Given the description of an element on the screen output the (x, y) to click on. 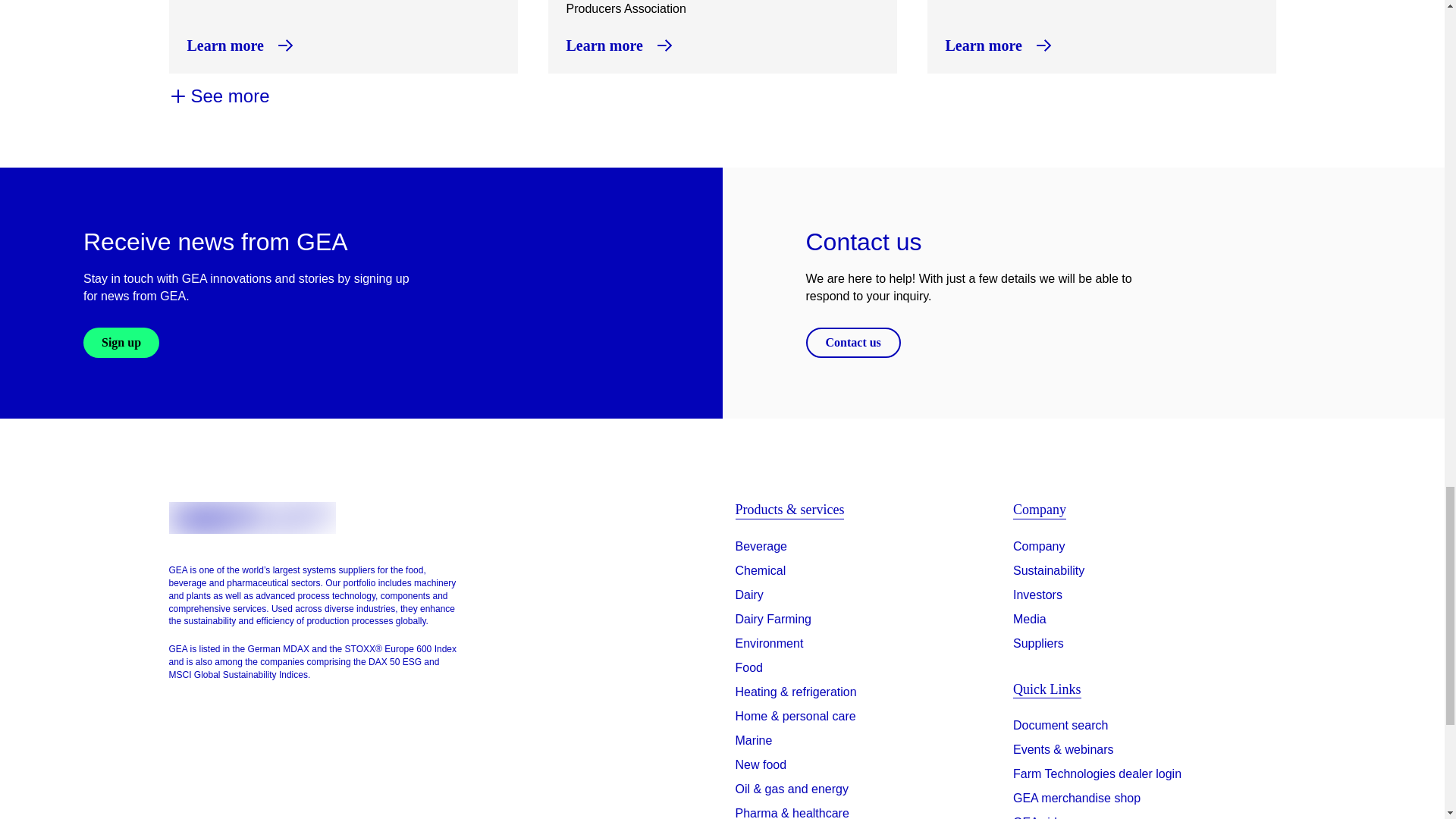
Search (1060, 728)
Company (1038, 546)
Suppliers (1038, 643)
Media (1029, 619)
videos (1045, 816)
Investors (1037, 595)
Events (1063, 752)
Sustainability (1048, 570)
